Given the description of an element on the screen output the (x, y) to click on. 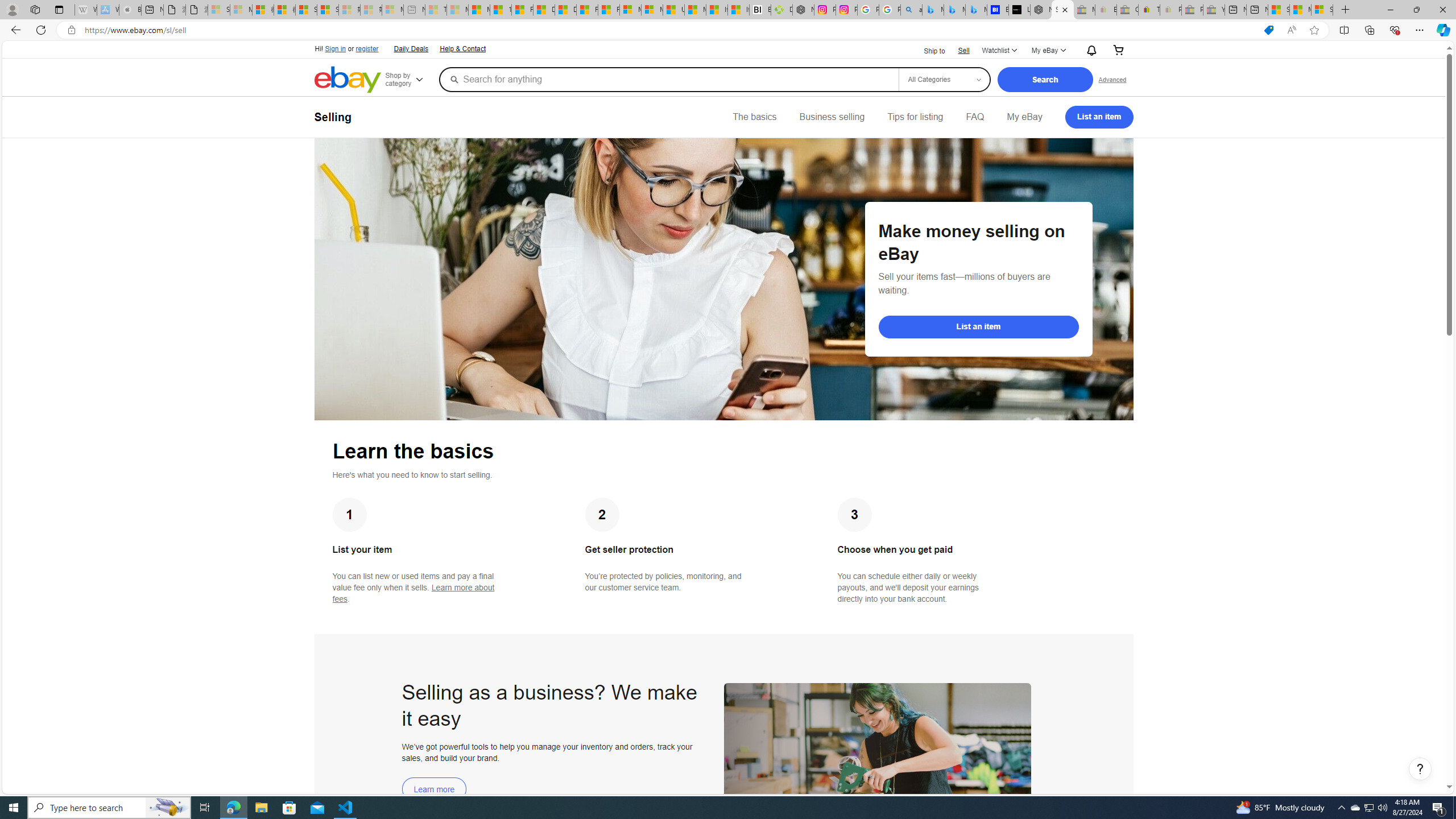
Microsoft Services Agreement - Sleeping (241, 9)
Business selling (831, 116)
